Given the description of an element on the screen output the (x, y) to click on. 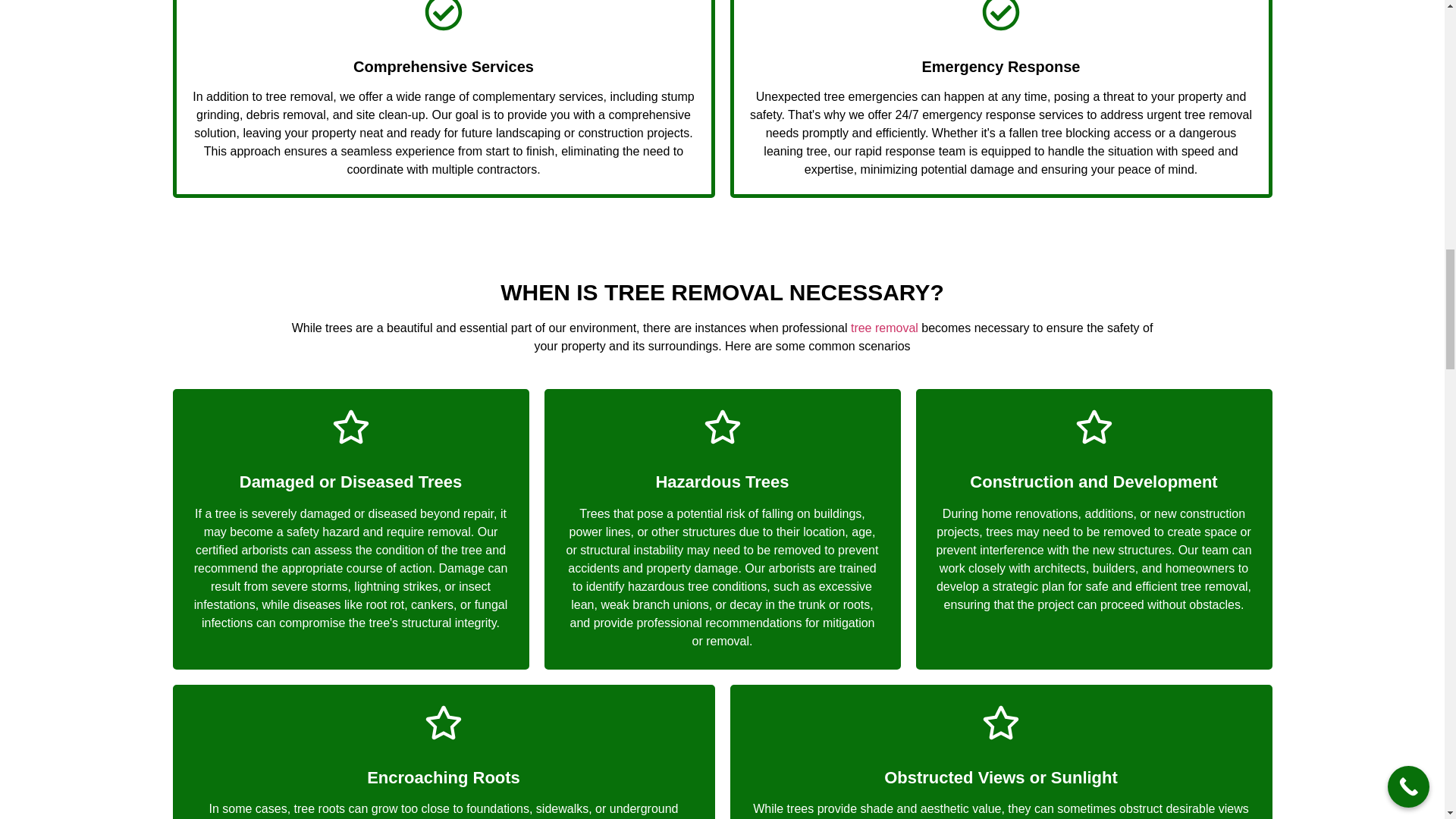
tree removal (884, 327)
Hazardous Trees (722, 481)
Obstructed Views or Sunlight (1000, 777)
Damaged or Diseased Trees (350, 481)
Construction and Development (1093, 481)
Encroaching Roots (442, 777)
